Given the description of an element on the screen output the (x, y) to click on. 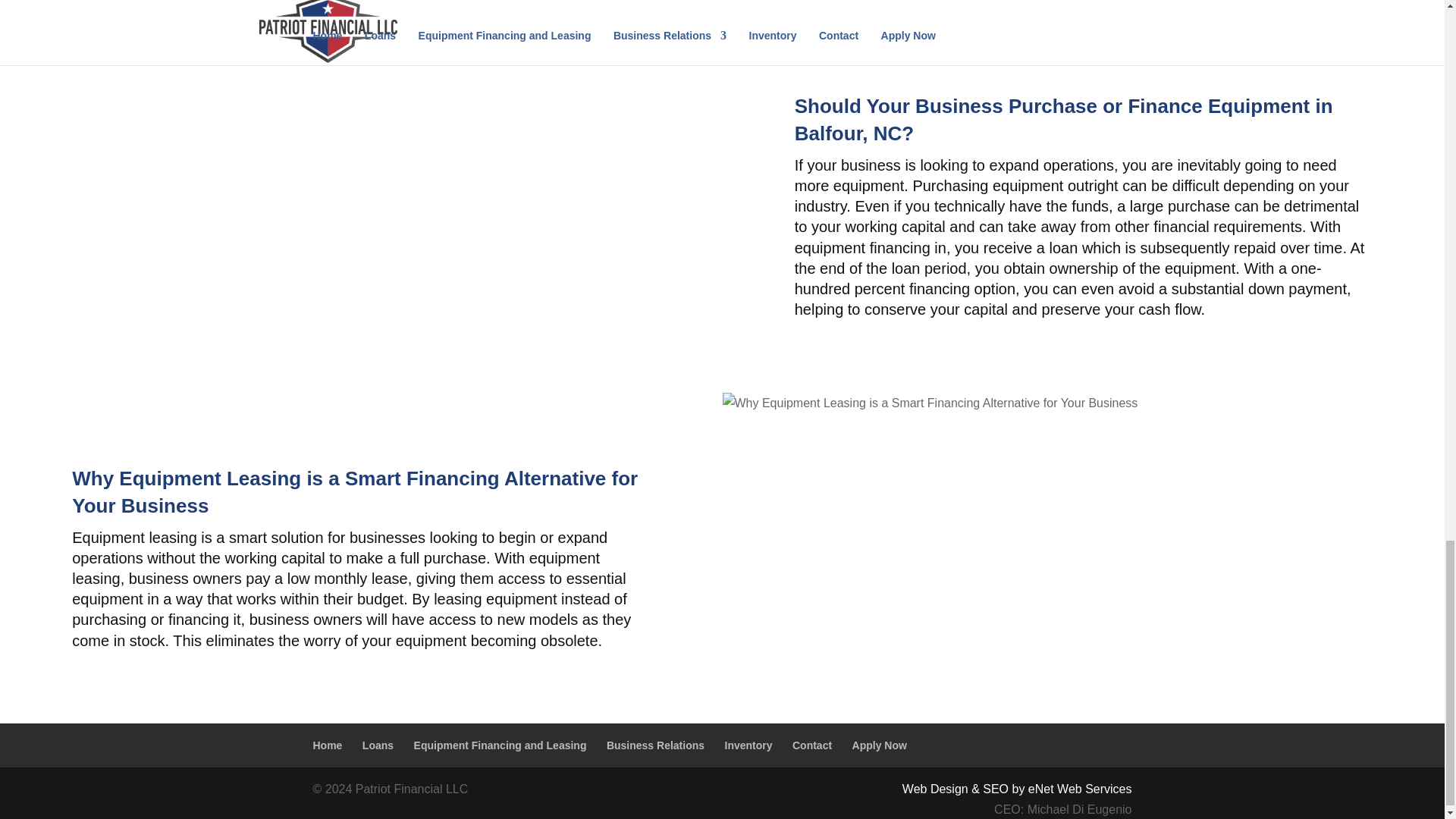
Contact (811, 745)
Business Relations (655, 745)
Equipment Financing and Leasing (499, 745)
Inventory (749, 745)
Loans (377, 745)
Apply Now (879, 745)
Home (327, 745)
